Given the description of an element on the screen output the (x, y) to click on. 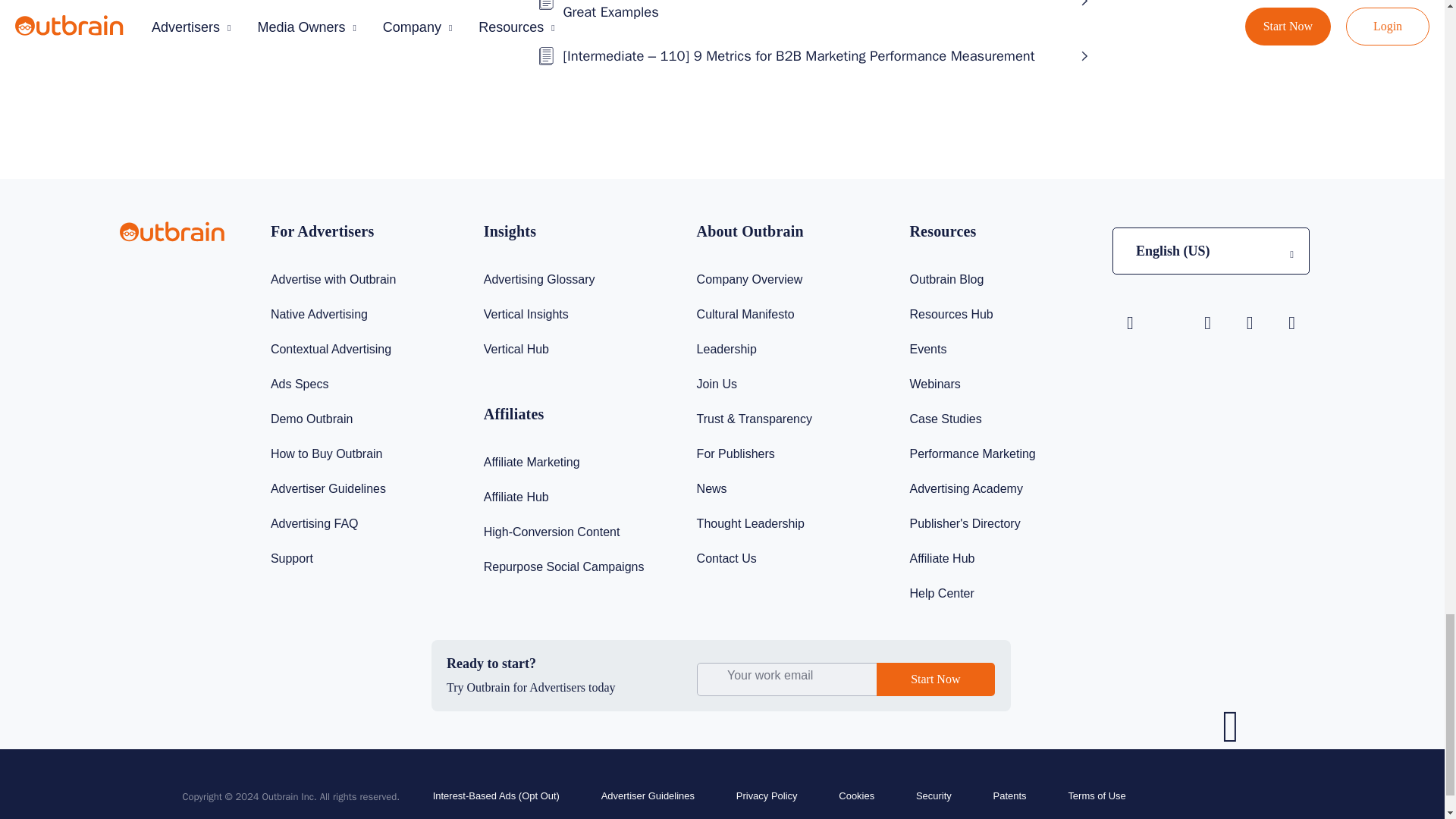
Start Now (935, 679)
